Given the description of an element on the screen output the (x, y) to click on. 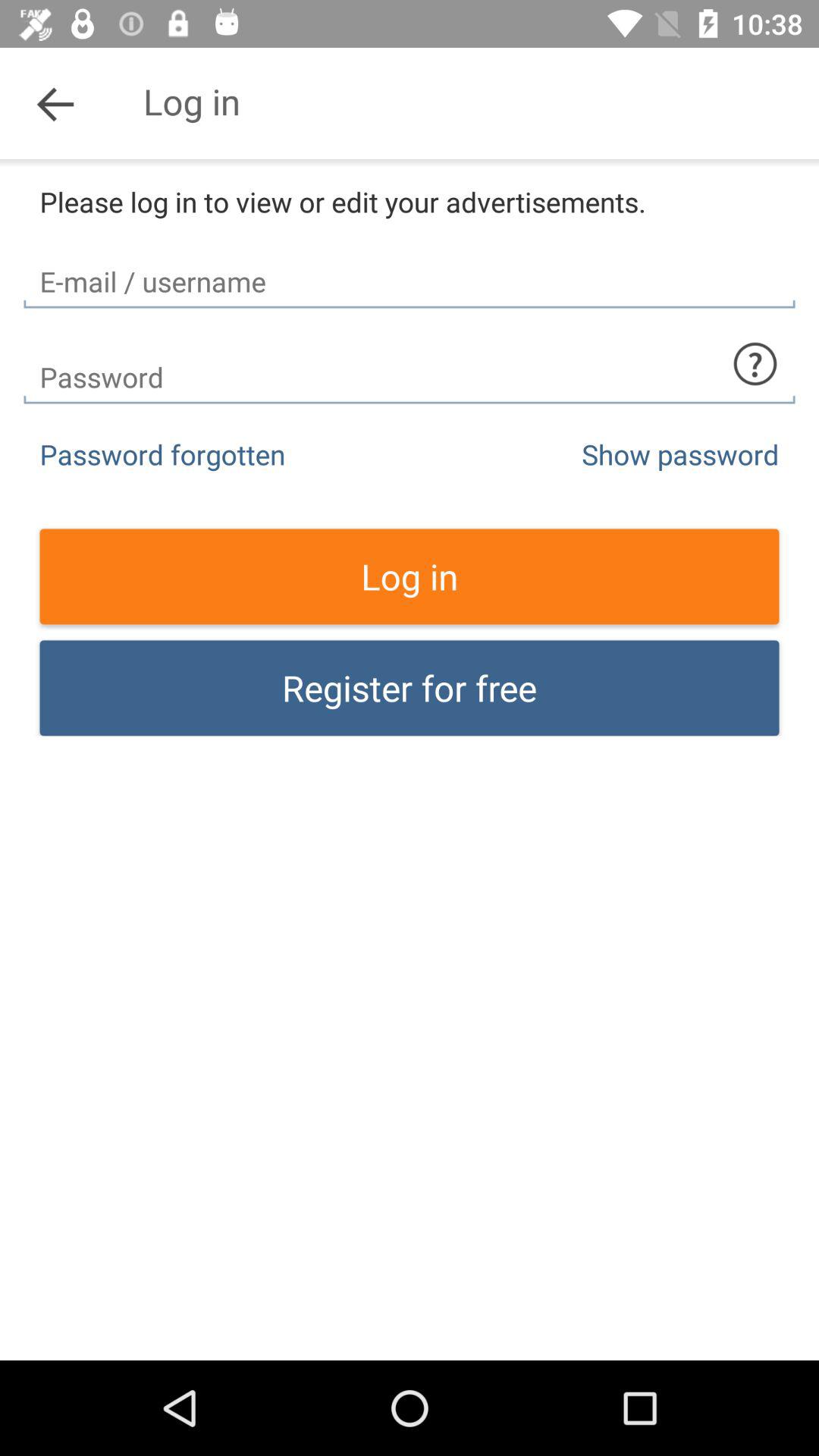
flip until the register for free item (409, 687)
